Given the description of an element on the screen output the (x, y) to click on. 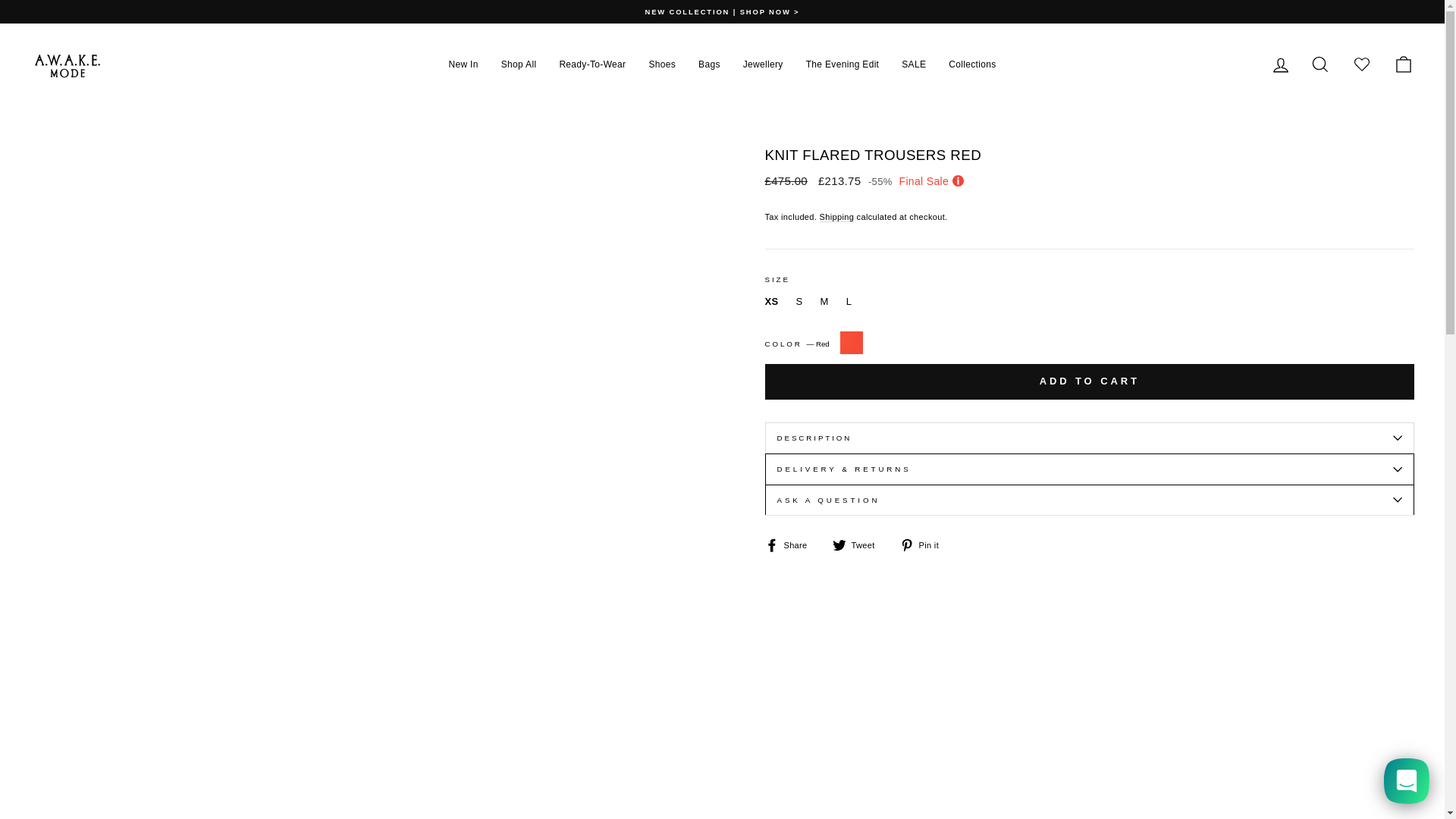
Tweet on Twitter (859, 545)
Pin on Pinterest (924, 545)
Share on Facebook (791, 545)
